Given the description of an element on the screen output the (x, y) to click on. 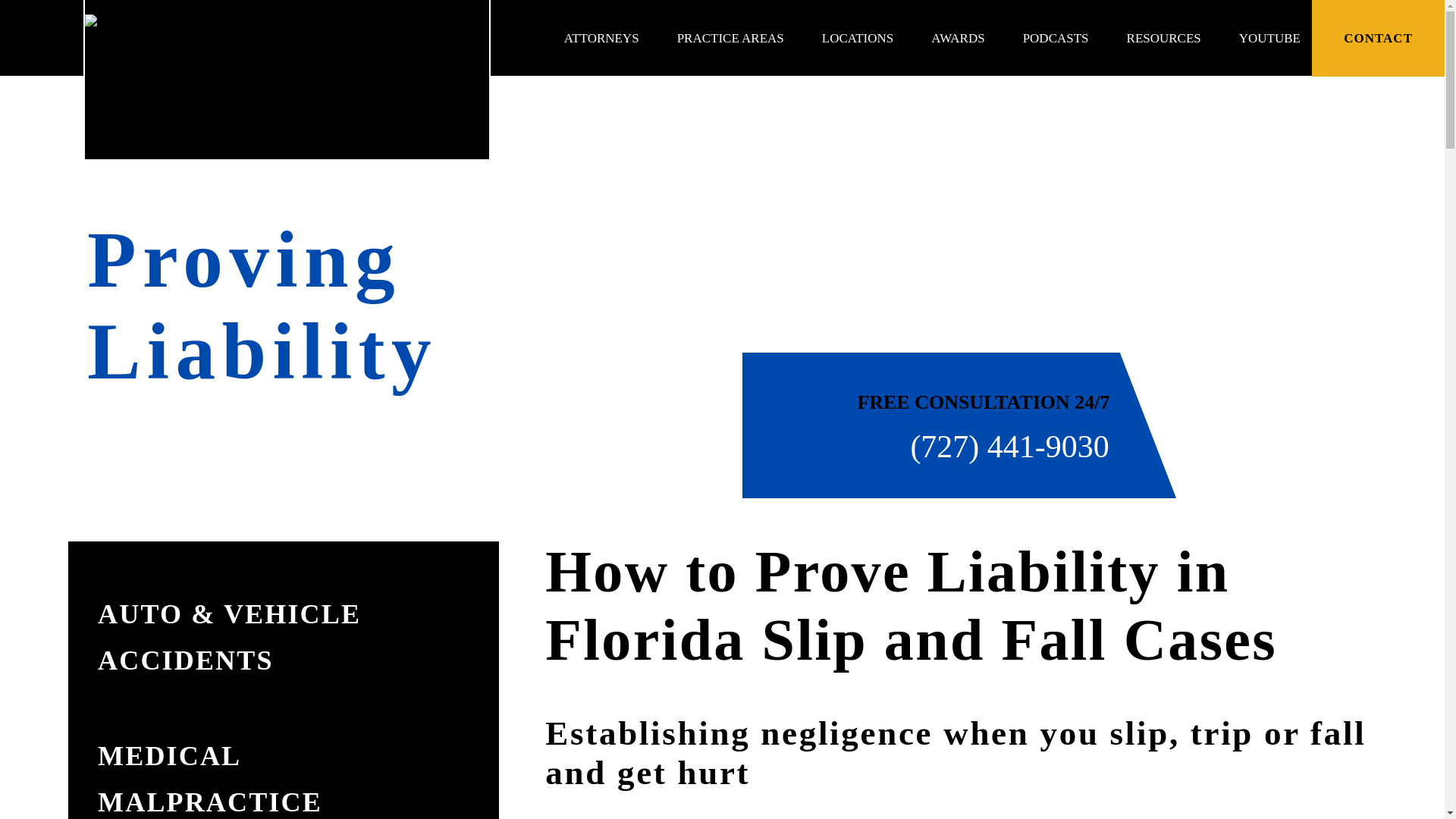
PODCASTS (1056, 38)
RESOURCES (1163, 38)
PRACTICE AREAS (730, 38)
ATTORNEYS (601, 38)
AWARDS (957, 38)
LOCATIONS (857, 38)
